Given the description of an element on the screen output the (x, y) to click on. 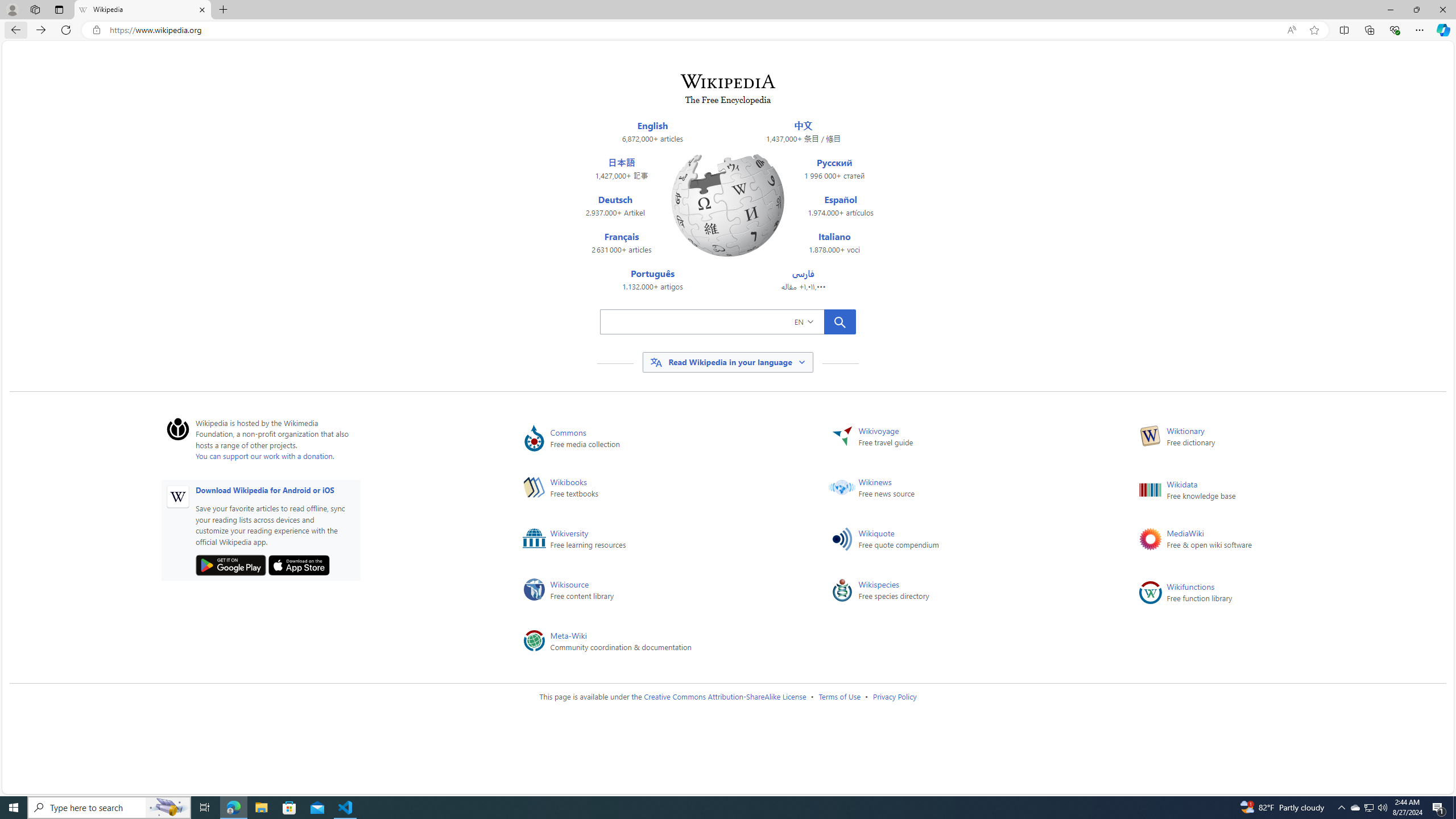
Privacy Policy (894, 696)
Search Wikipedia (711, 321)
Read Wikipedia in your language  (727, 362)
Wiktionary Free dictionary (1274, 438)
EN (821, 321)
Google Play Store (230, 565)
Terms of Use (839, 696)
Wikibooks Free textbooks (658, 489)
